Given the description of an element on the screen output the (x, y) to click on. 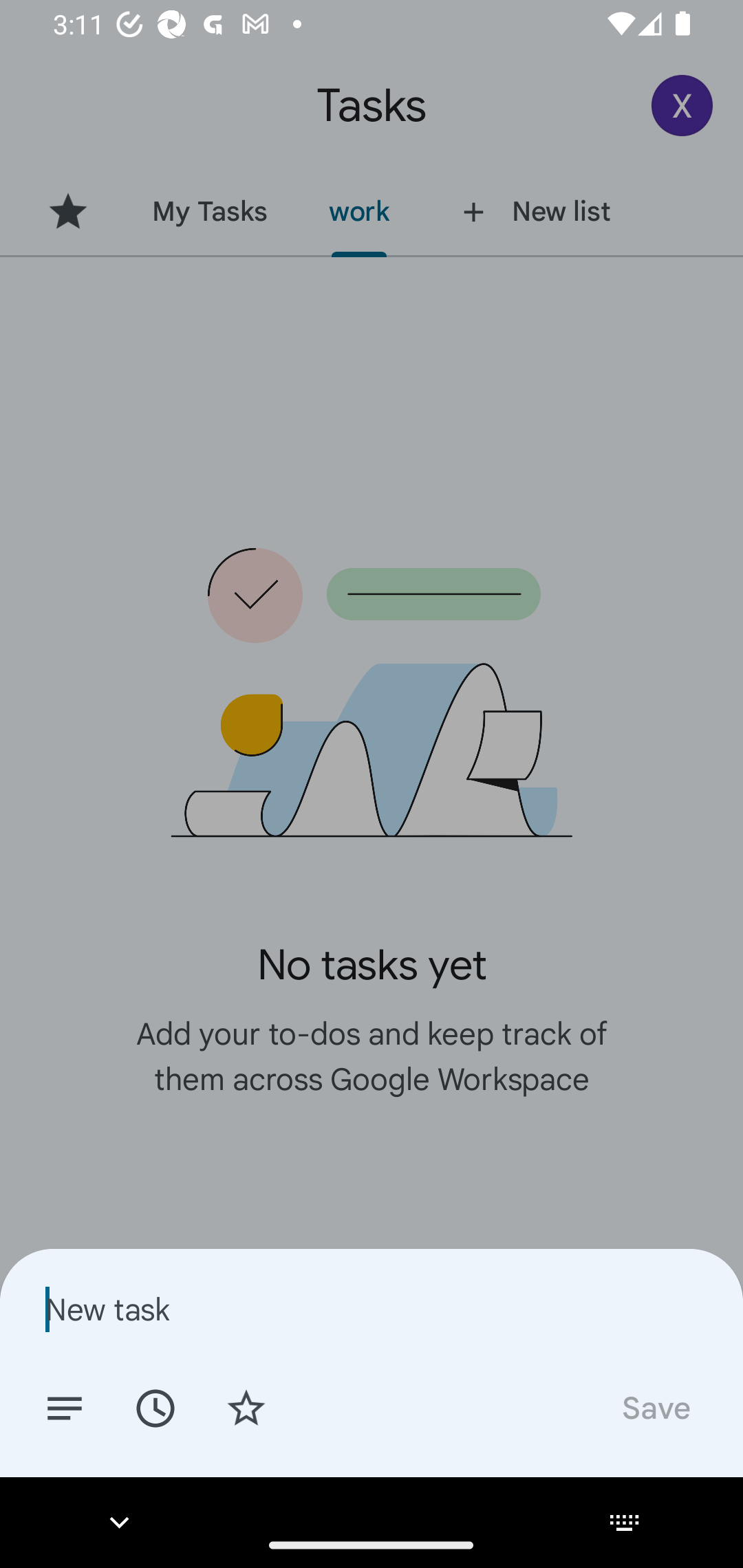
New task (371, 1308)
Save (655, 1407)
Add details (64, 1407)
Set date/time (154, 1407)
Add star (245, 1407)
